Given the description of an element on the screen output the (x, y) to click on. 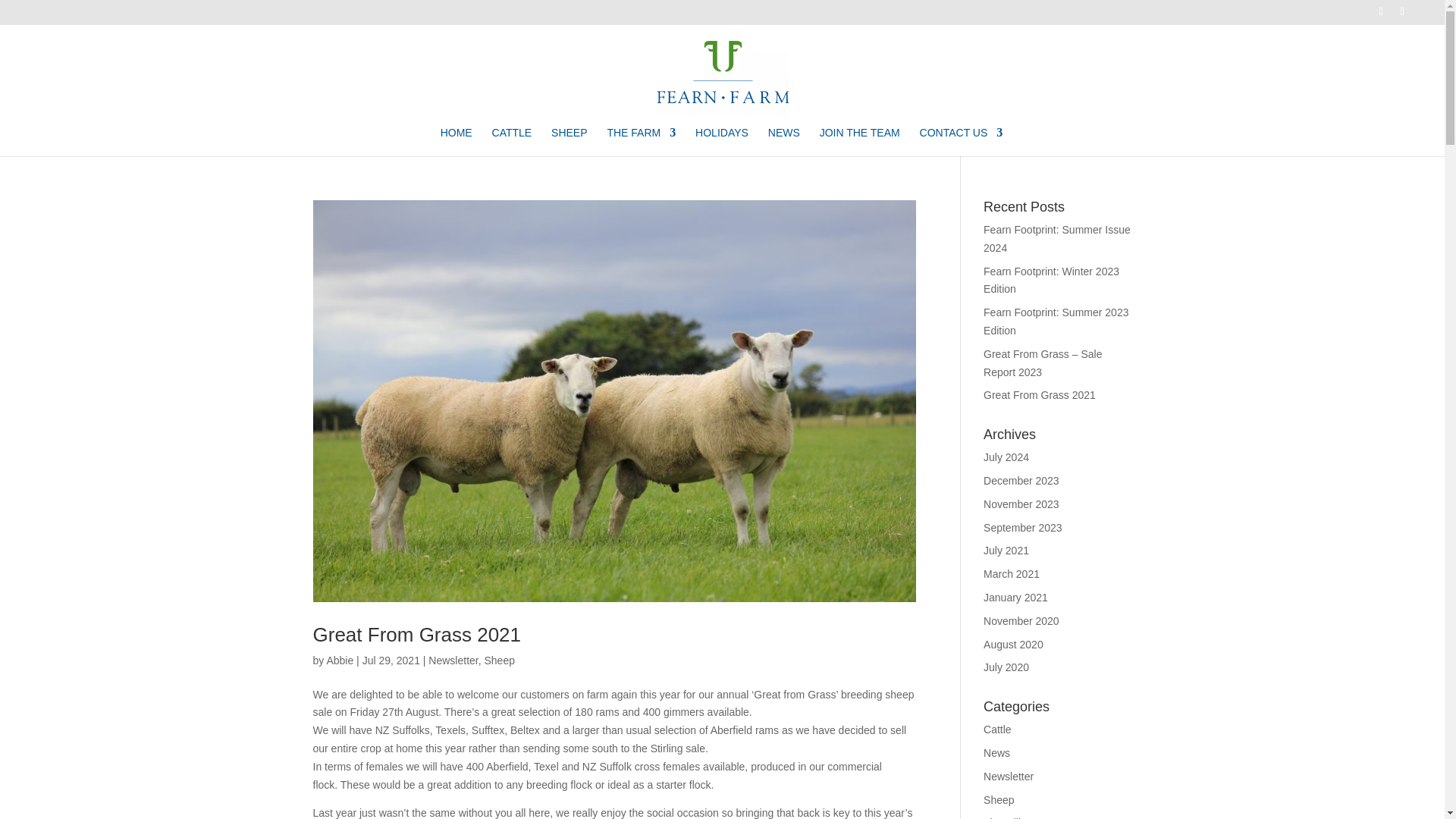
Abbie (339, 660)
CONTACT US (961, 141)
HOME (456, 141)
HOLIDAYS (721, 141)
Sheep (498, 660)
JOIN THE TEAM (859, 141)
Great From Grass 2021 (417, 634)
NEWS (783, 141)
SHEEP (568, 141)
Newsletter (452, 660)
THE FARM (641, 141)
Posts by Abbie (339, 660)
CATTLE (512, 141)
